Given the description of an element on the screen output the (x, y) to click on. 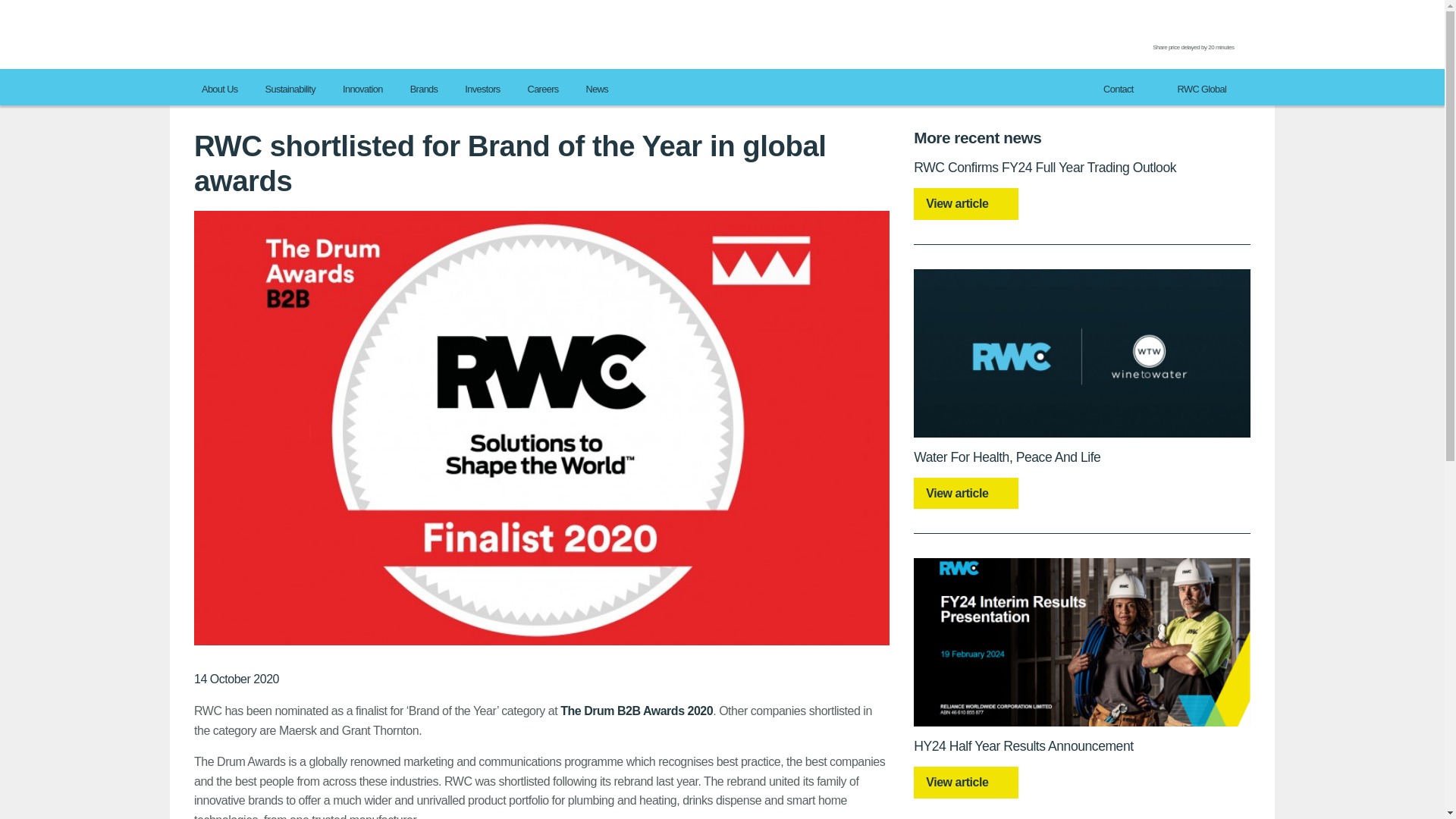
RWC (239, 34)
